Given the description of an element on the screen output the (x, y) to click on. 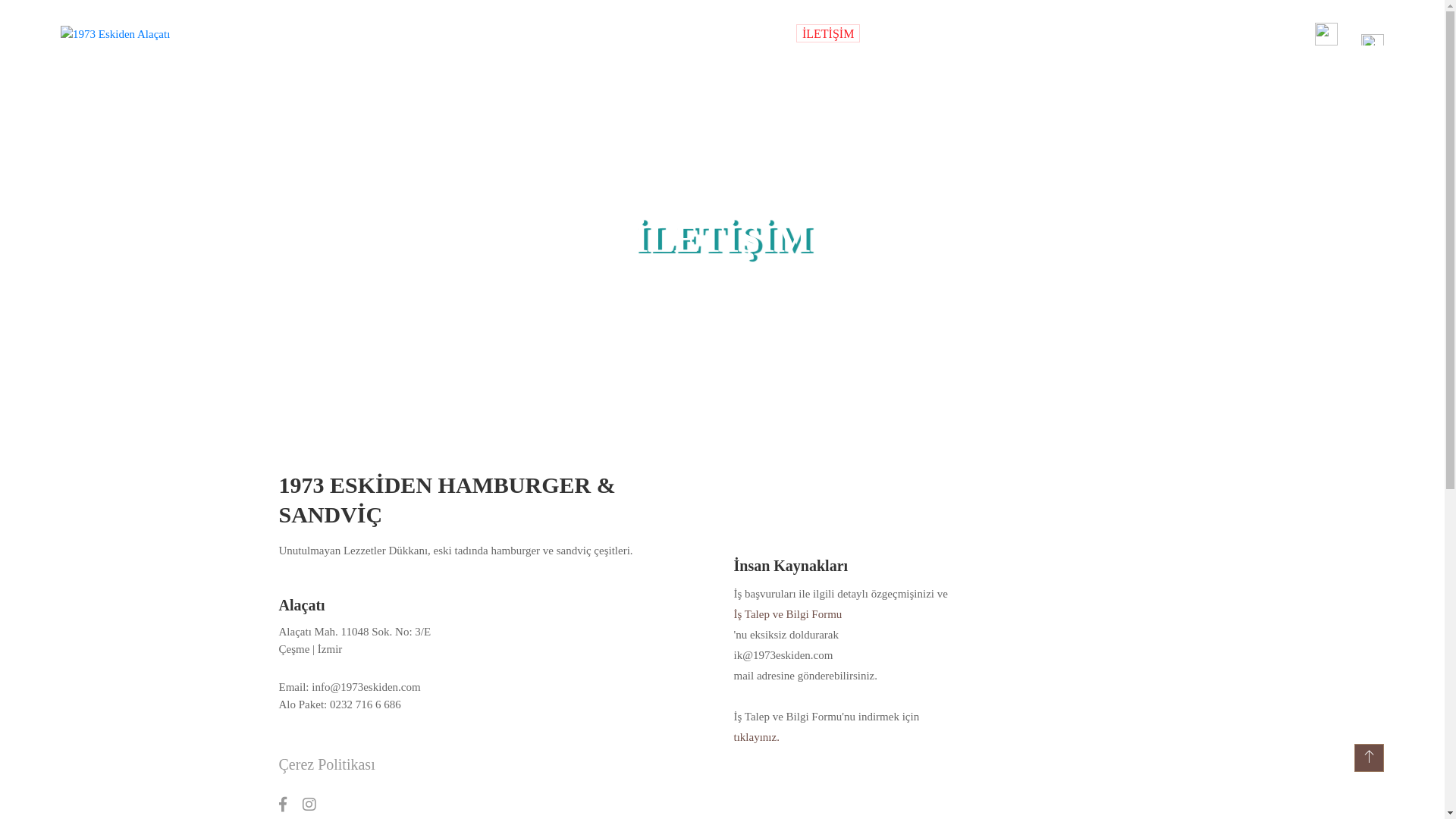
ANASAYFA Element type: text (552, 33)
Email: info@1973eskiden.com Element type: text (381, 687)
HAKKIMIZDA Element type: text (728, 33)
ik@1973eskiden.com Element type: text (950, 654)
Alo Paket: 0232 716 6 686 Element type: text (381, 704)
KVKK Element type: text (904, 33)
